Given the description of an element on the screen output the (x, y) to click on. 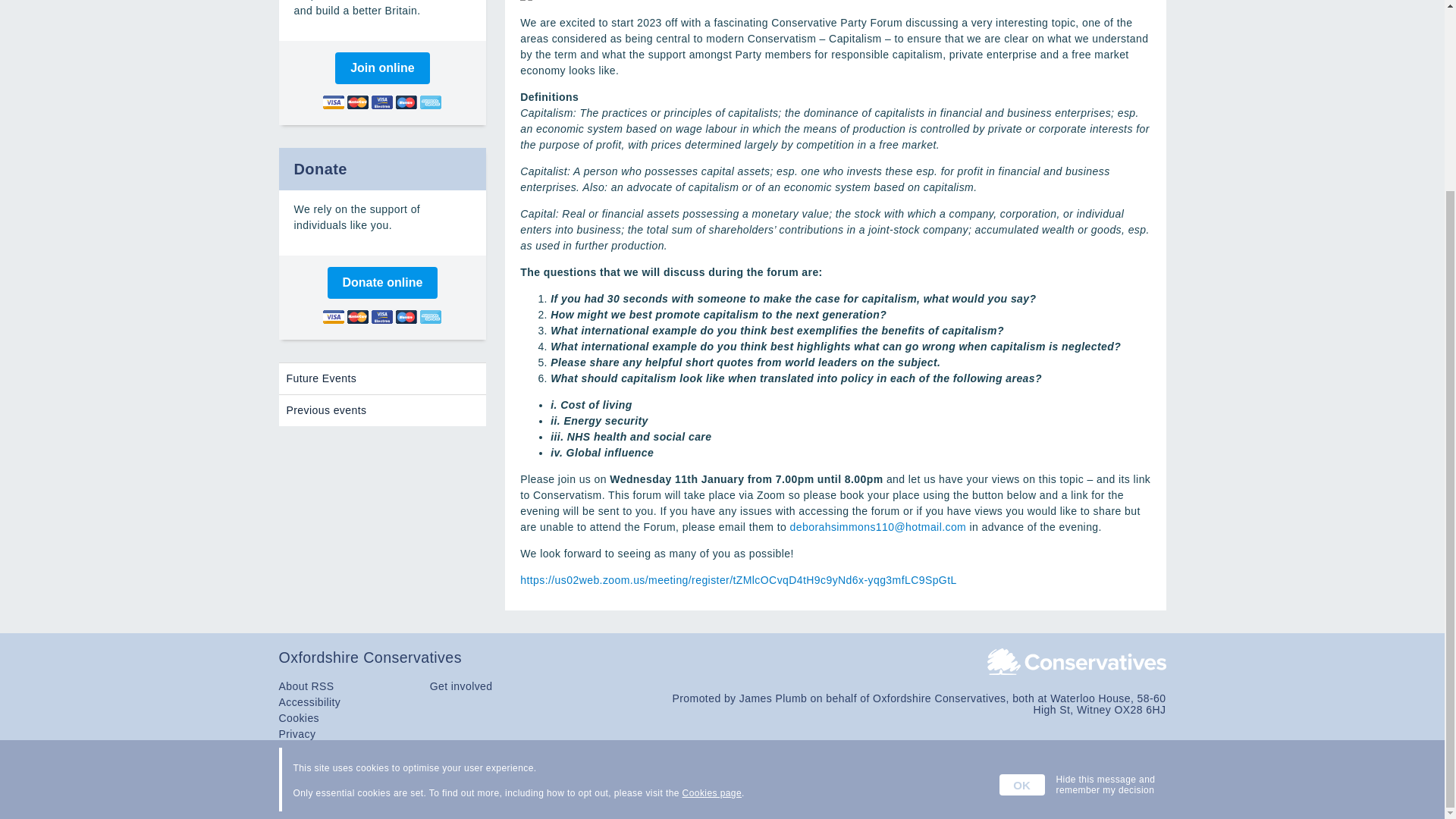
Oxfordshire Conservatives (722, 657)
Cookies (299, 717)
OK (1021, 545)
Donate online (382, 282)
Get involved (461, 686)
Accessibility (309, 702)
Previous events (382, 409)
Donate online (382, 282)
Join online (381, 68)
Privacy (297, 734)
Join online (381, 68)
Bluetree (1145, 793)
Cookies page (711, 553)
Future Events (382, 378)
About RSS (306, 686)
